Given the description of an element on the screen output the (x, y) to click on. 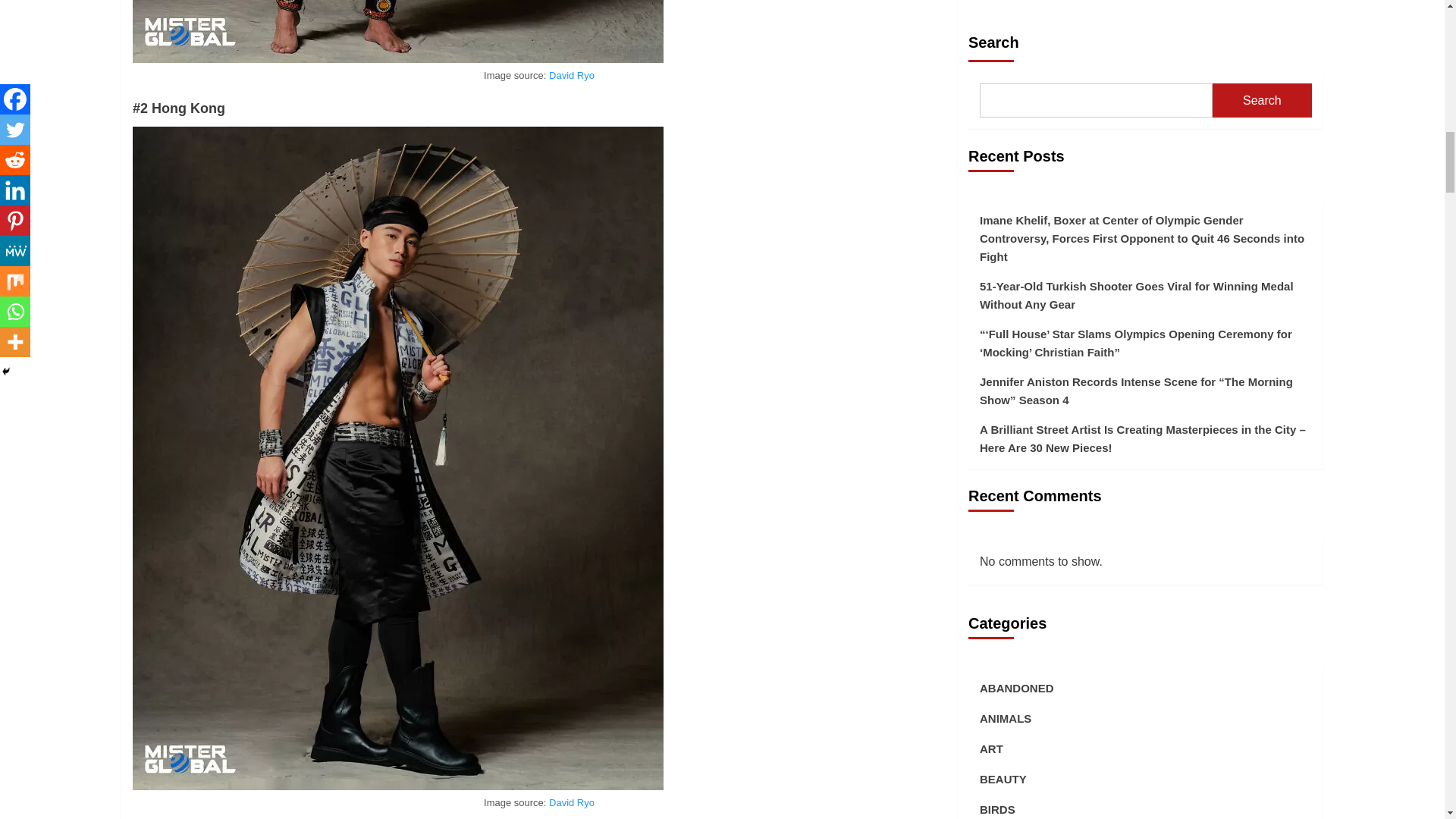
David Ryo (571, 802)
David Ryo (571, 75)
